Given the description of an element on the screen output the (x, y) to click on. 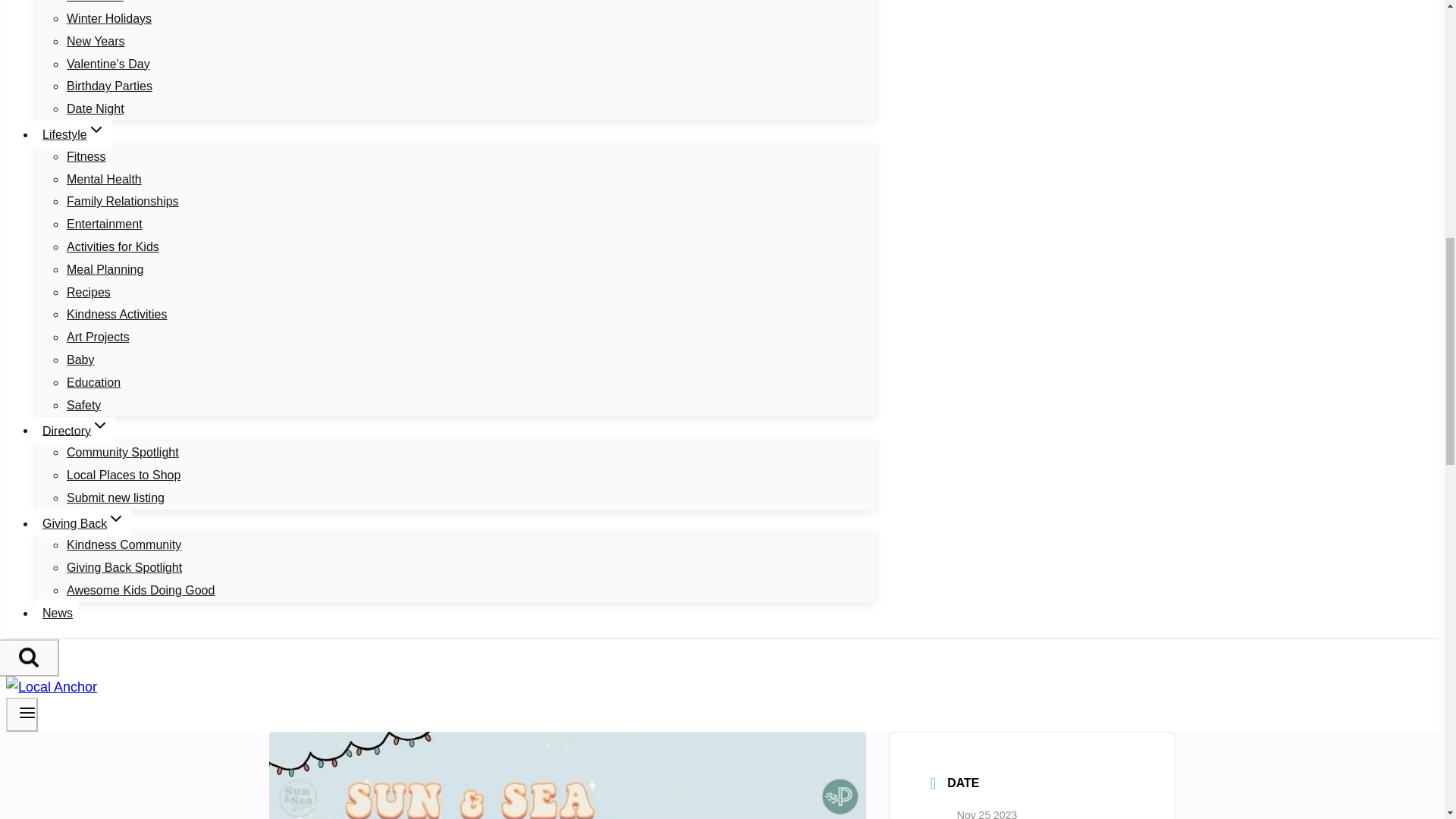
Expand (115, 518)
Halloween (94, 7)
Winter Holidays (108, 18)
Toggle Menu (26, 712)
Expand (95, 129)
Search (28, 656)
New Years (95, 40)
Expand (99, 425)
